Given the description of an element on the screen output the (x, y) to click on. 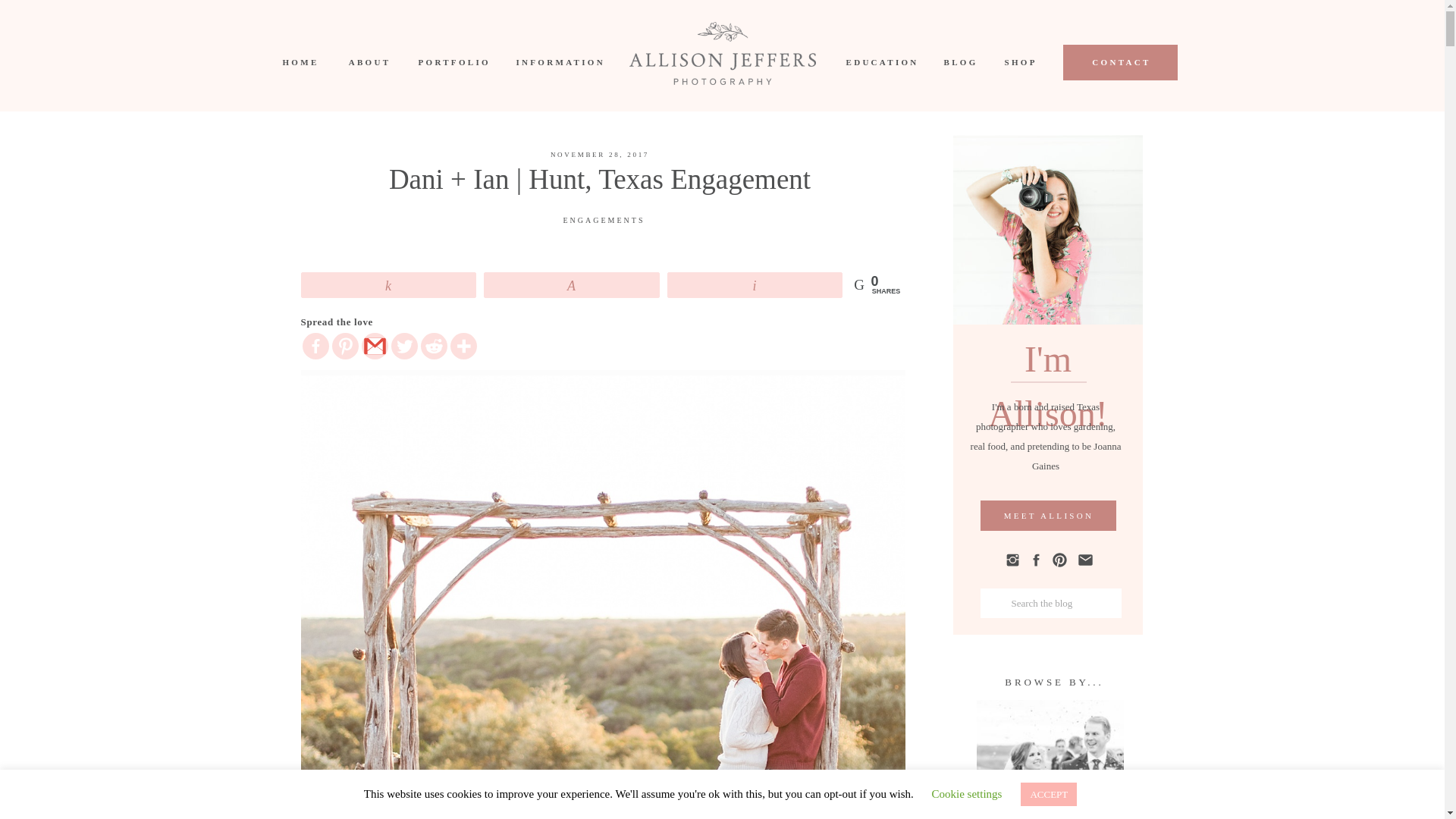
ENGAGEMENTS (603, 220)
Pinterest (344, 345)
SHOP (1018, 61)
Reddit (433, 345)
HOME (298, 61)
MEET ALLISON (1048, 515)
BLOG (958, 61)
Google Gmail (374, 345)
Facebook (315, 345)
CONTACT (1120, 61)
